Given the description of an element on the screen output the (x, y) to click on. 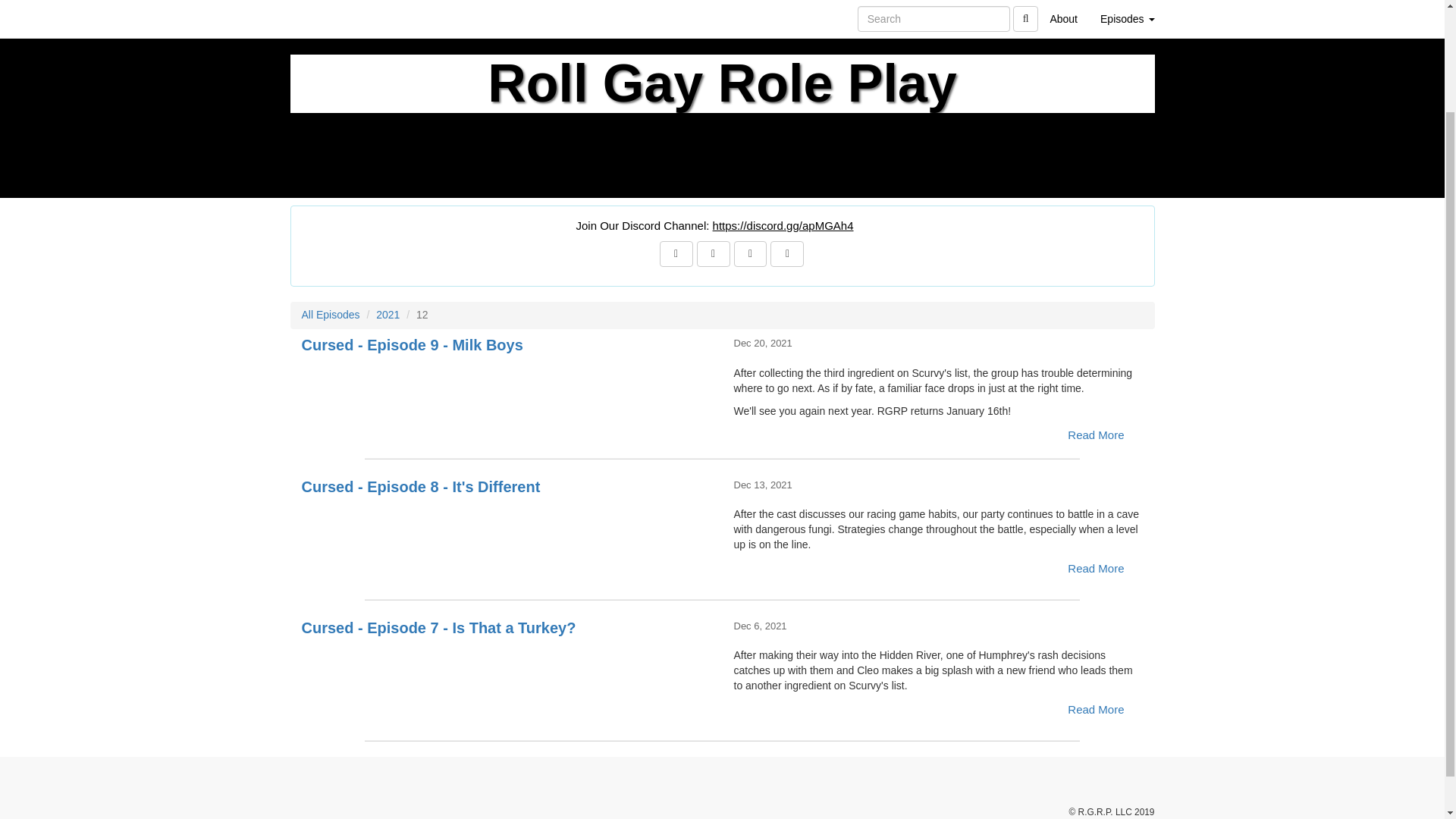
Cursed - Episode 9 - Milk Boys (506, 391)
Cursed - Episode 7 - Is That a Turkey? (506, 673)
Cursed - Episode 8 - It's Different (506, 532)
